Given the description of an element on the screen output the (x, y) to click on. 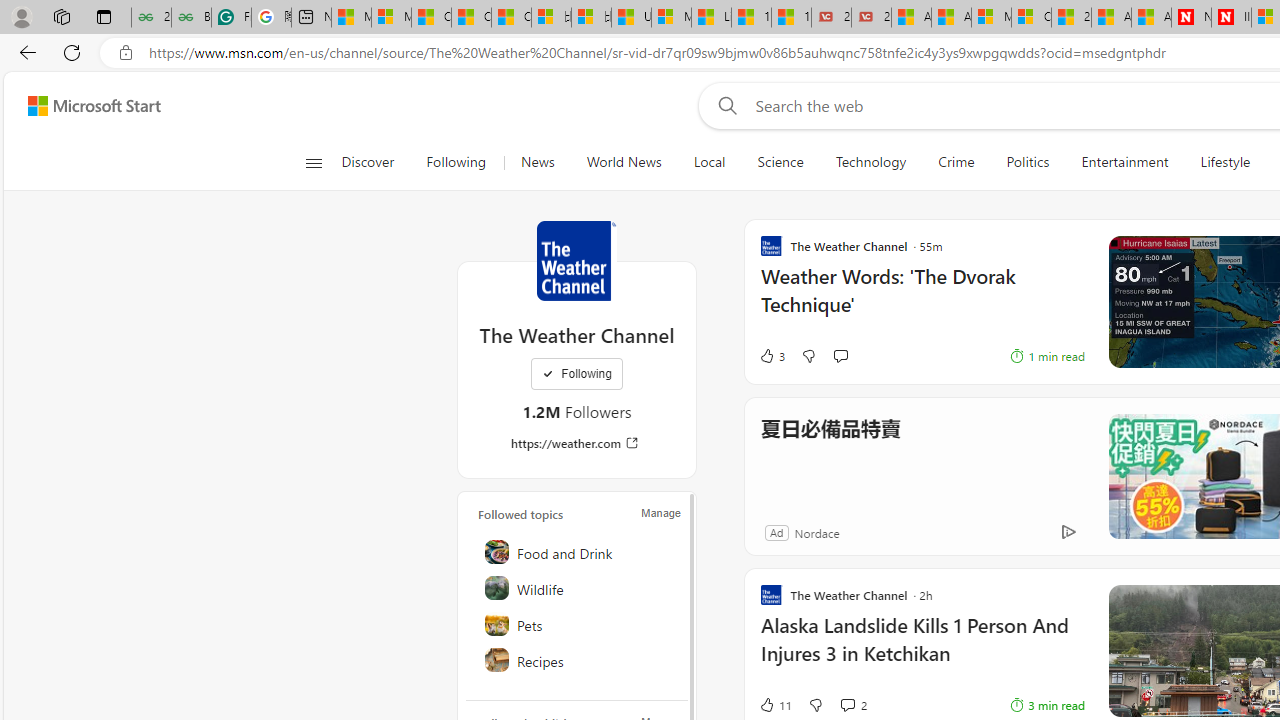
Cloud Computing Services | Microsoft Azure (1031, 17)
